Given the description of an element on the screen output the (x, y) to click on. 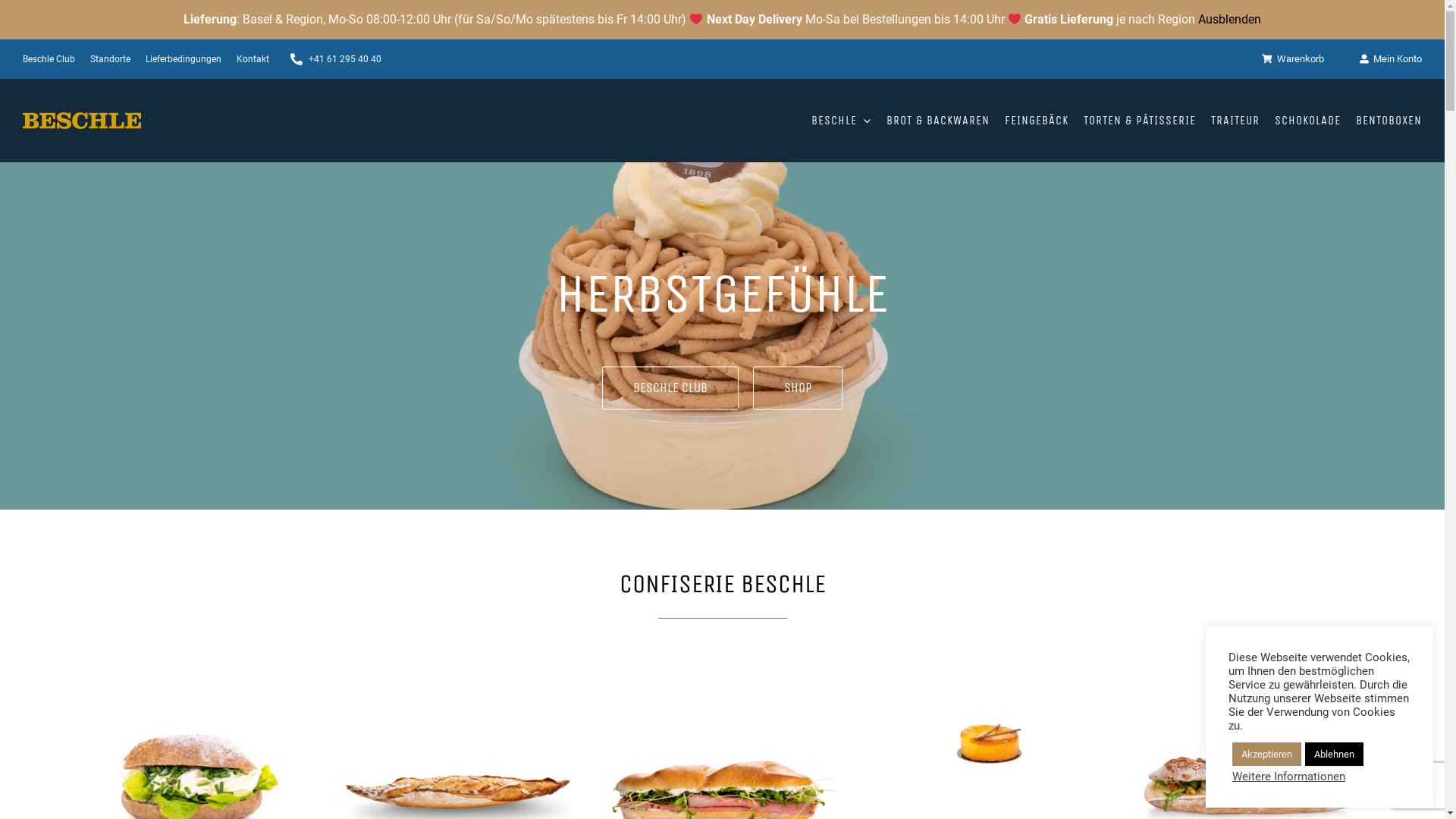
Beschle Club Element type: text (48, 59)
+41 61 295 40 40 Element type: text (332, 59)
BROT & BACKWAREN Element type: text (937, 120)
Weitere Informationen Element type: text (1288, 776)
SHOP Element type: text (797, 388)
BENTOBOXEN Element type: text (1388, 120)
Ablehnen Element type: text (1334, 753)
Akzeptieren Element type: text (1266, 753)
Anmelden Element type: text (1331, 219)
Mein Konto Element type: text (1388, 59)
Warenkorb Element type: text (1300, 59)
SCHOKOLADE Element type: text (1307, 120)
BESCHLE CLUB Element type: text (670, 388)
BESCHLE Element type: text (841, 120)
TRAITEUR Element type: text (1235, 120)
Kontakt Element type: text (252, 59)
Lieferbedingungen Element type: text (183, 59)
Standorte Element type: text (110, 59)
Ausblenden Element type: text (1229, 19)
